Given the description of an element on the screen output the (x, y) to click on. 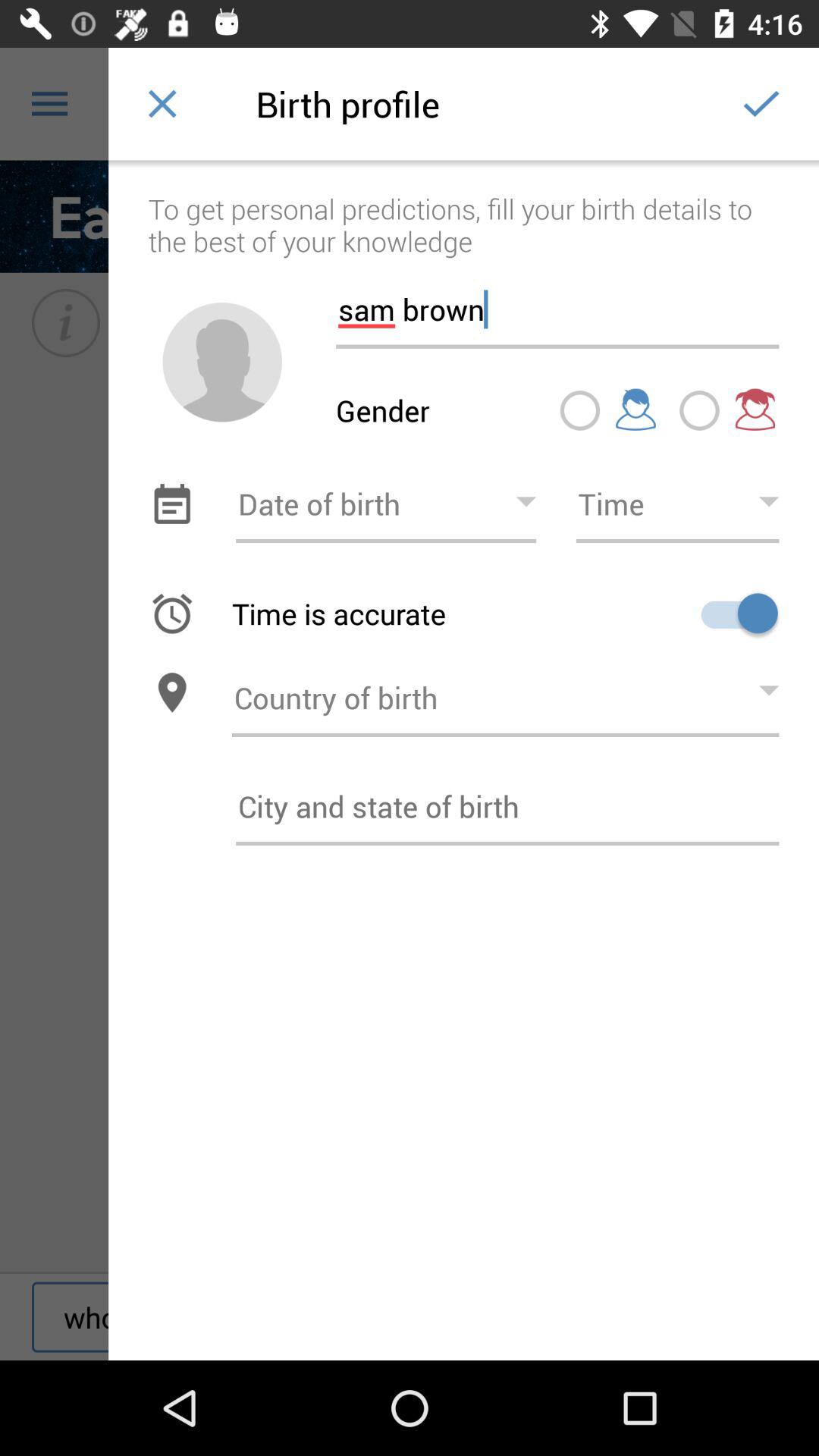
open icon next to the sam brown item (222, 362)
